Given the description of an element on the screen output the (x, y) to click on. 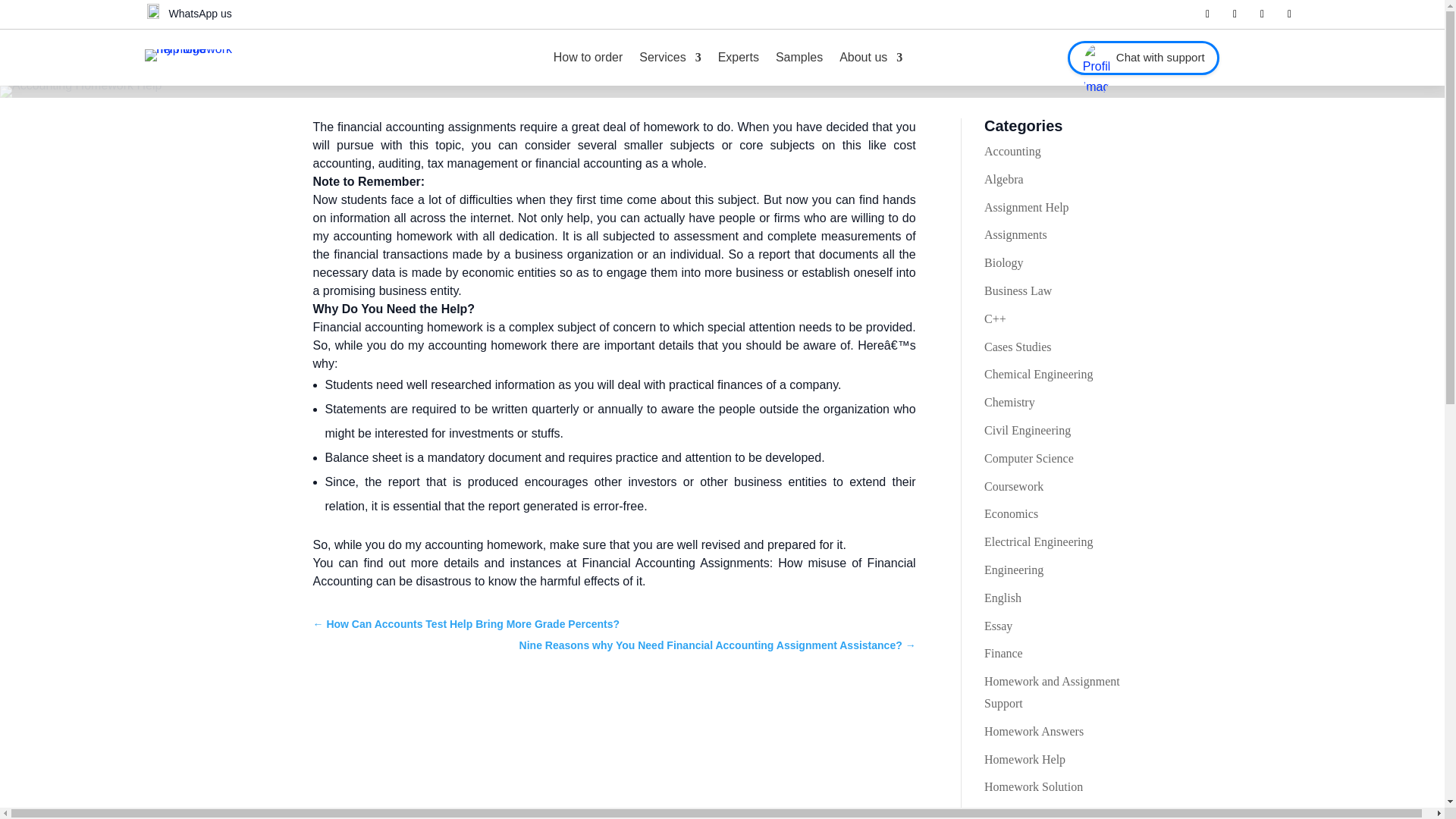
Hero-Logo (193, 55)
Follow on Facebook (1206, 14)
Follow on X (1234, 14)
Follow on LinkedIn (1261, 14)
How to order (588, 57)
Follow on Instagram (1289, 14)
Posts by Phillip (651, 72)
Services (669, 57)
